Given the description of an element on the screen output the (x, y) to click on. 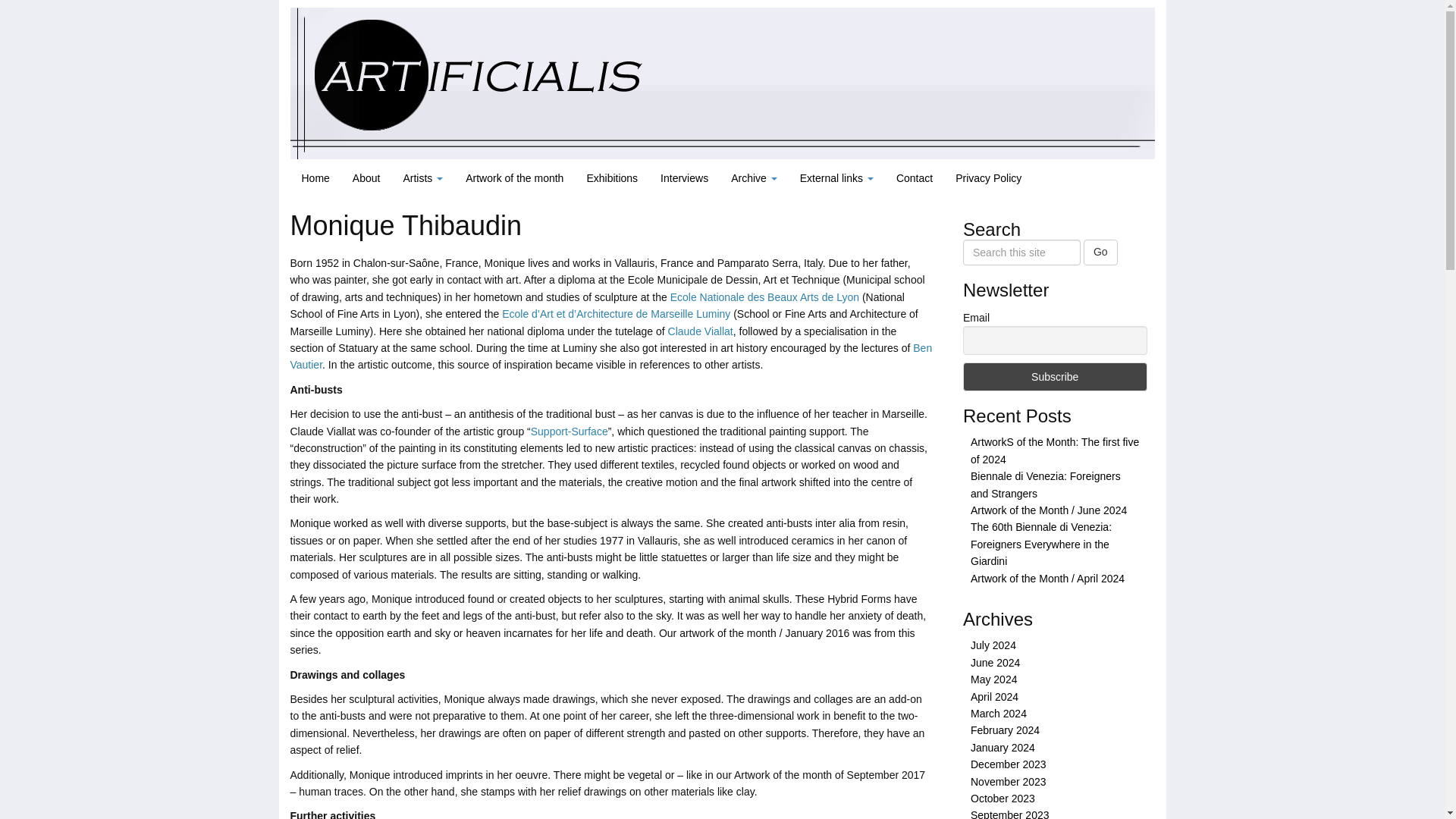
About (365, 177)
Artificialis (721, 82)
Subscribe (1054, 376)
Artists (422, 177)
Home (314, 177)
Artists (422, 177)
About (365, 177)
Home (314, 177)
